Given the description of an element on the screen output the (x, y) to click on. 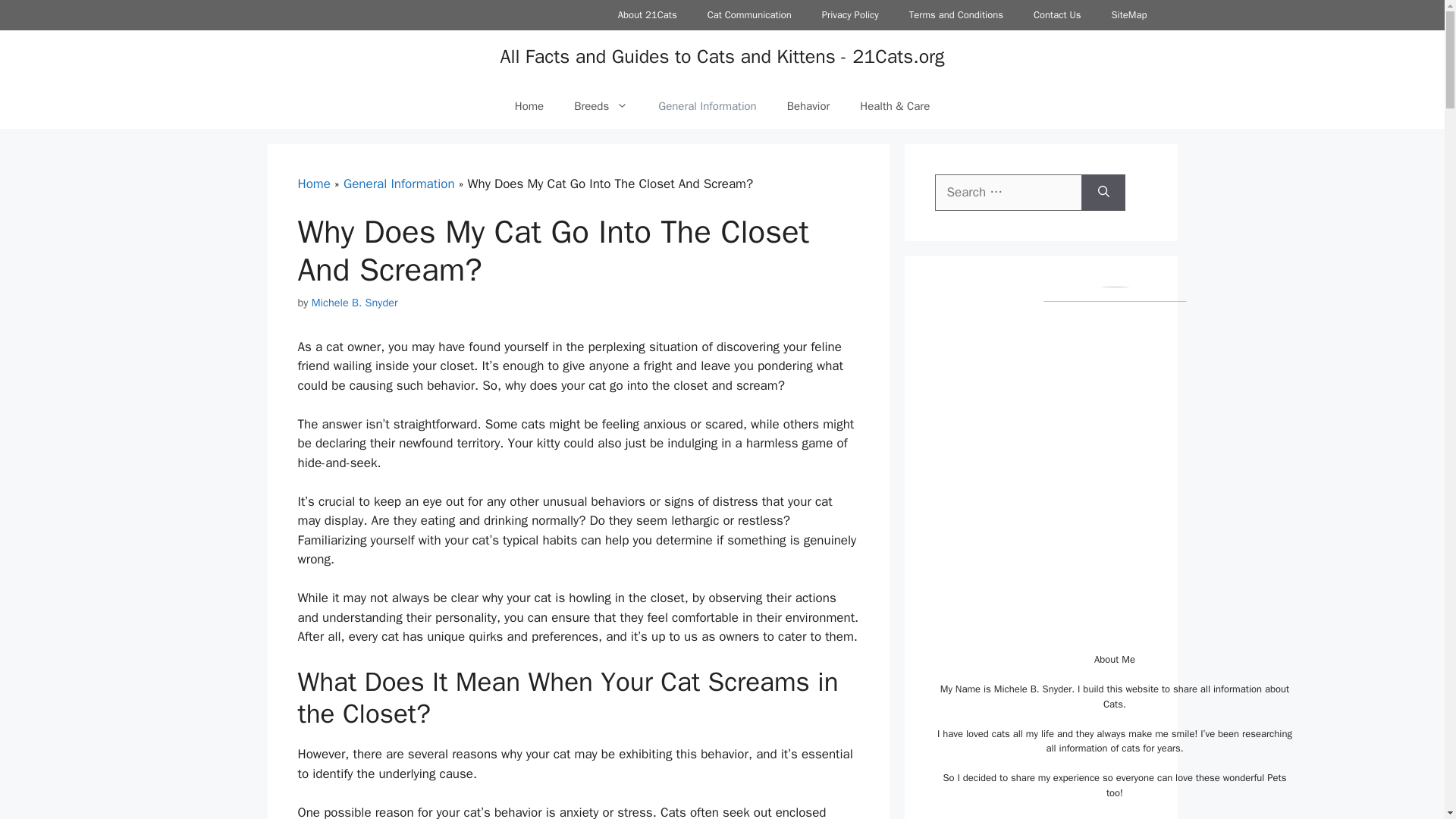
Search for: (1007, 192)
Contact Us (1056, 15)
Michele B. Snyder (354, 302)
Cat Communication (749, 15)
About 21Cats (647, 15)
Privacy Policy (849, 15)
Home (529, 105)
General Information (398, 183)
All Facts and Guides to Cats and Kittens - 21Cats.org (721, 56)
Terms and Conditions (955, 15)
